Given the description of an element on the screen output the (x, y) to click on. 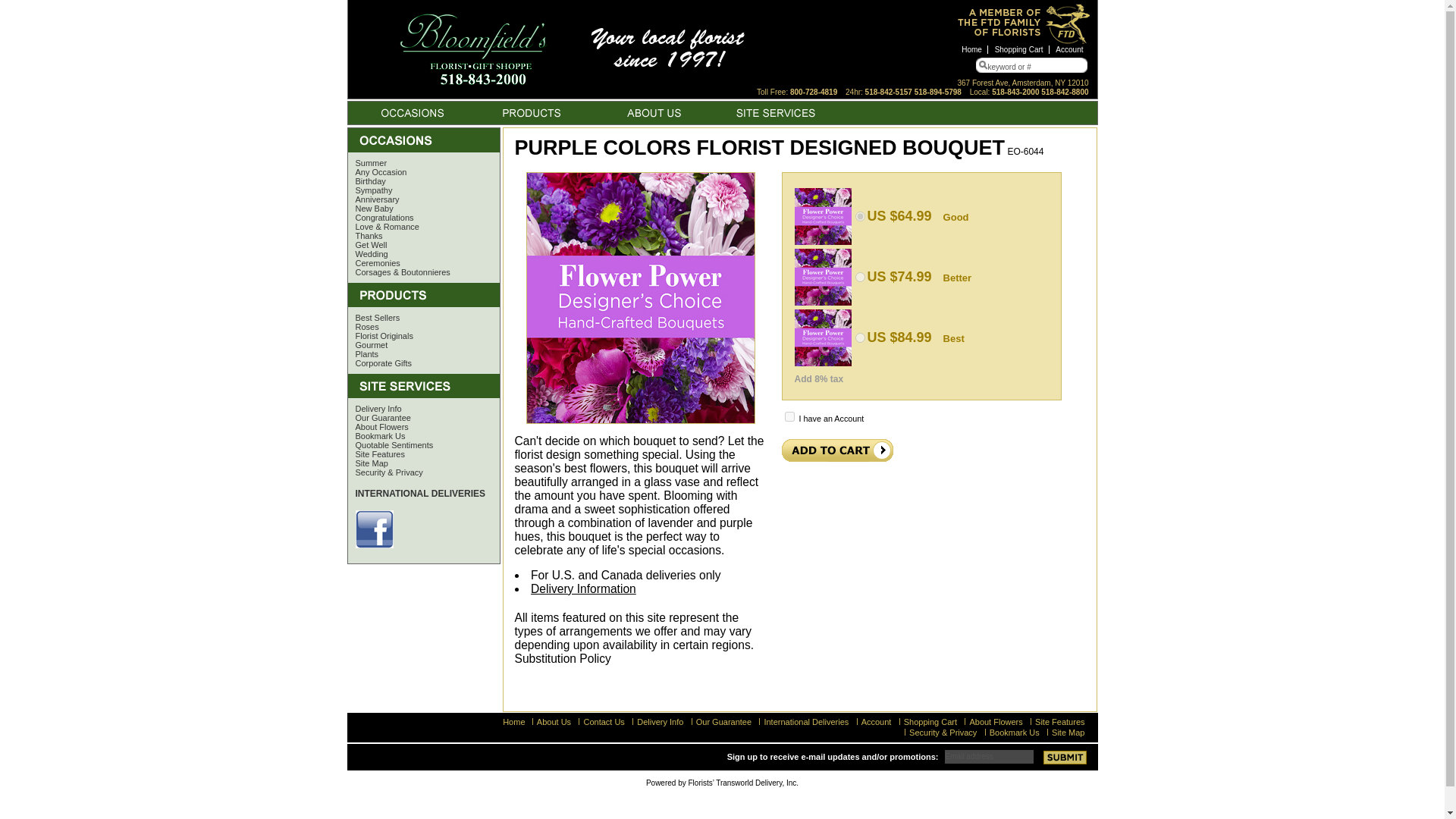
Account (1069, 49)
Home (972, 49)
Email address (988, 755)
Amsterdam, NY 12010 florist since 1997 - Bloomfields Florist (569, 48)
Yes (788, 416)
Shopping Cart (1019, 49)
